Given the description of an element on the screen output the (x, y) to click on. 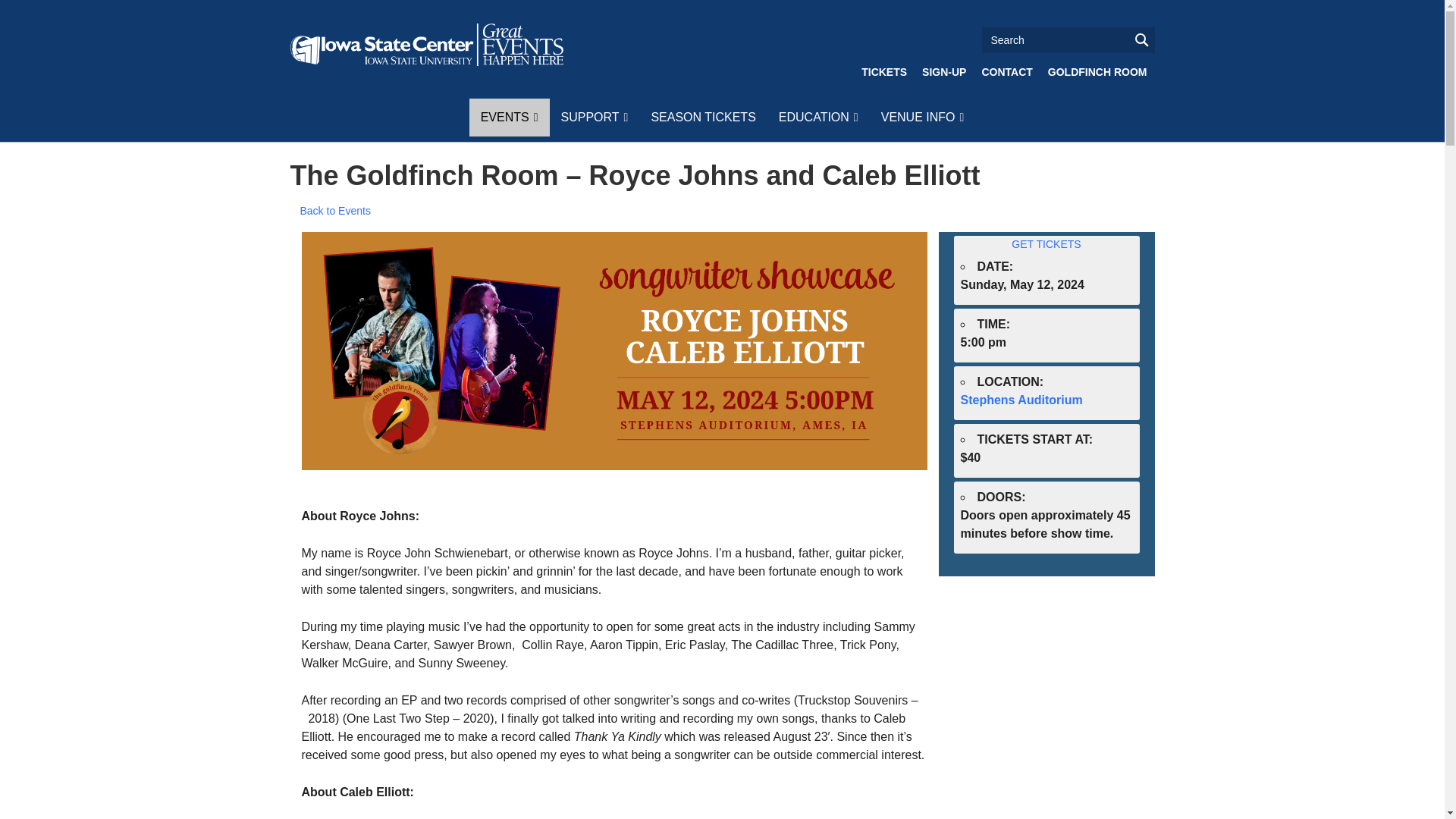
TICKETS (883, 71)
Iowa State University (425, 44)
SUPPORT (593, 117)
EVENTS (509, 117)
GOLDFINCH ROOM (1097, 71)
Home (425, 44)
CONTACT (1006, 71)
SIGN-UP (944, 71)
Search (1067, 40)
